Given the description of an element on the screen output the (x, y) to click on. 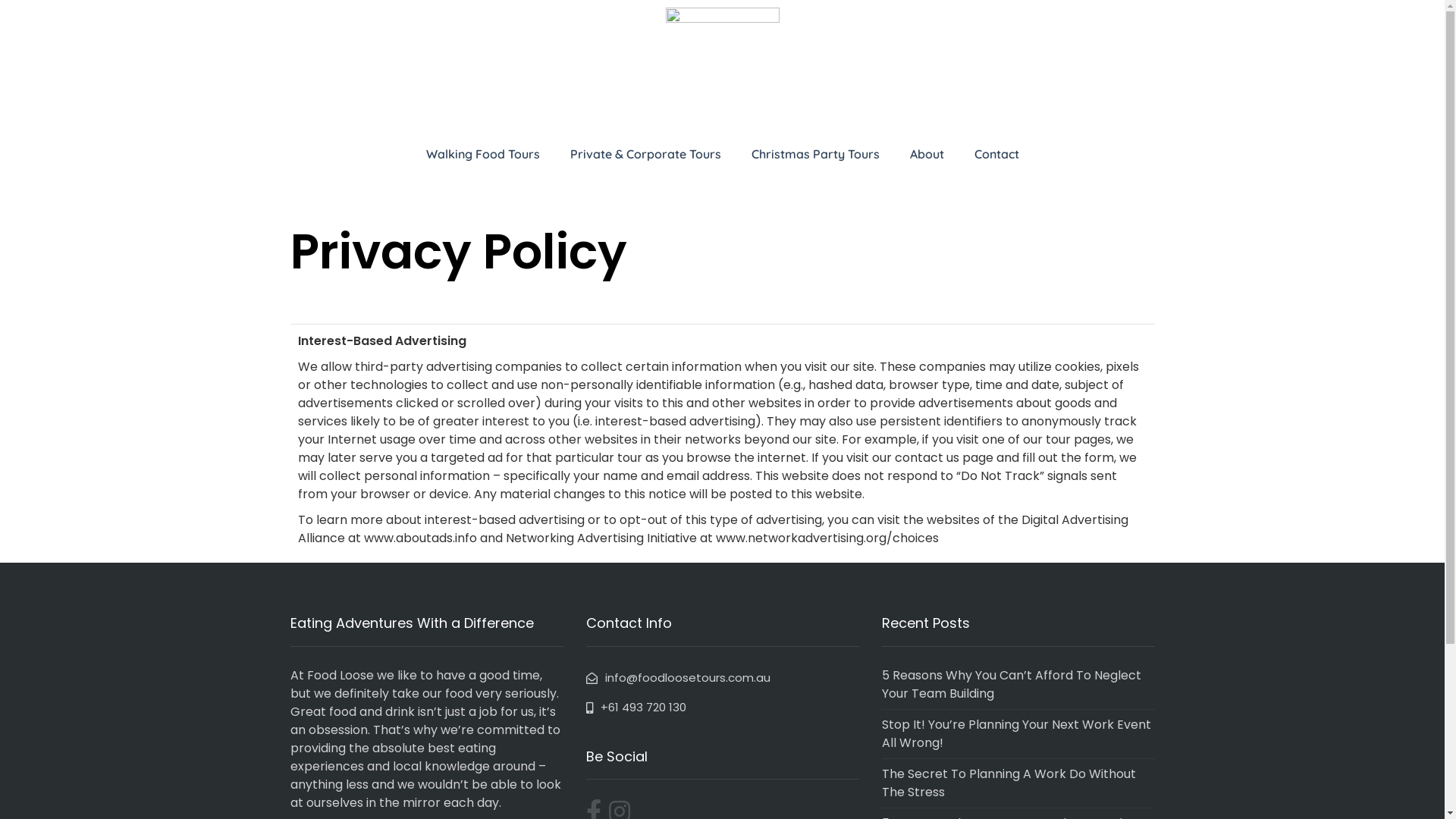
info@foodloosetours.com.au Element type: text (677, 677)
Private & Corporate Tours Element type: text (645, 153)
About Element type: text (926, 153)
Walking Food Tours Element type: text (483, 153)
Contact Element type: text (995, 153)
+61 493 720 130 Element type: text (635, 707)
Christmas Party Tours Element type: text (814, 153)
The Secret To Planning A Work Do Without The Stress Element type: text (1008, 782)
